Given the description of an element on the screen output the (x, y) to click on. 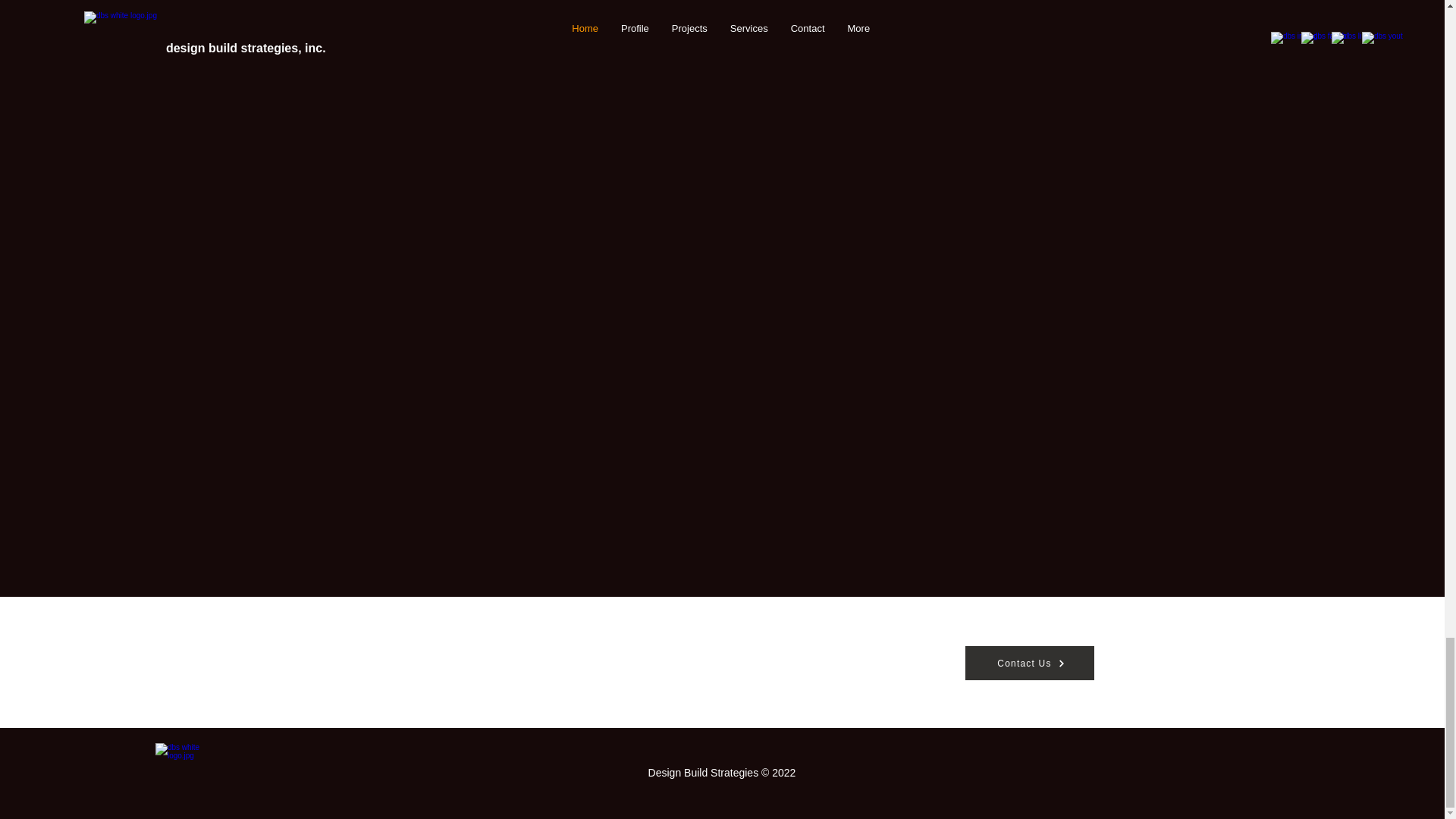
Contact Us (1028, 663)
